Given the description of an element on the screen output the (x, y) to click on. 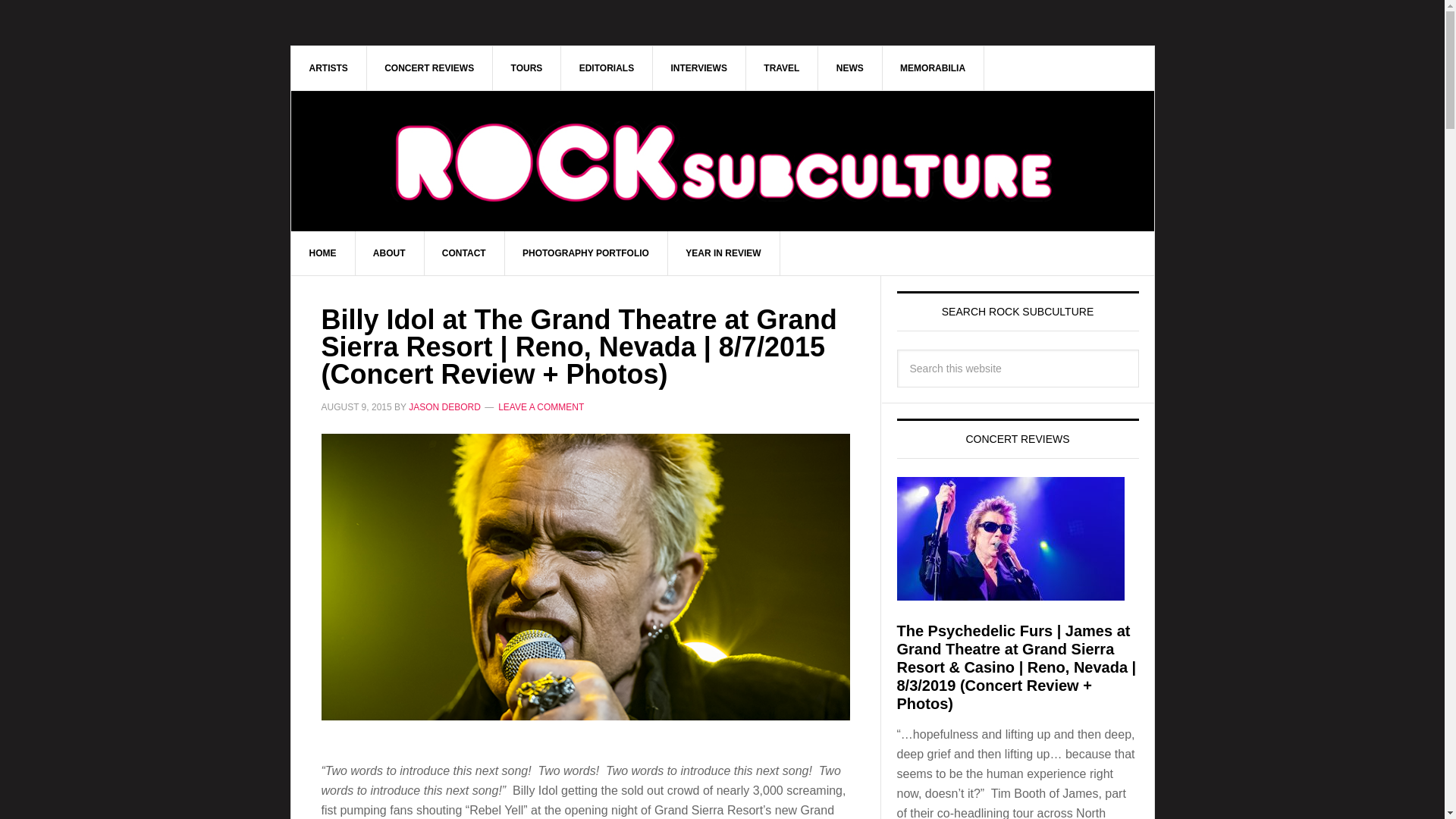
ABOUT (390, 252)
NEWS (850, 67)
LEAVE A COMMENT (540, 407)
TOURS (527, 67)
MEMORABILIA (933, 67)
JASON DEBORD (444, 407)
Jason DeBord's Rock Subculture Journal (722, 161)
TRAVEL (781, 67)
ARTISTS (328, 67)
